Given the description of an element on the screen output the (x, y) to click on. 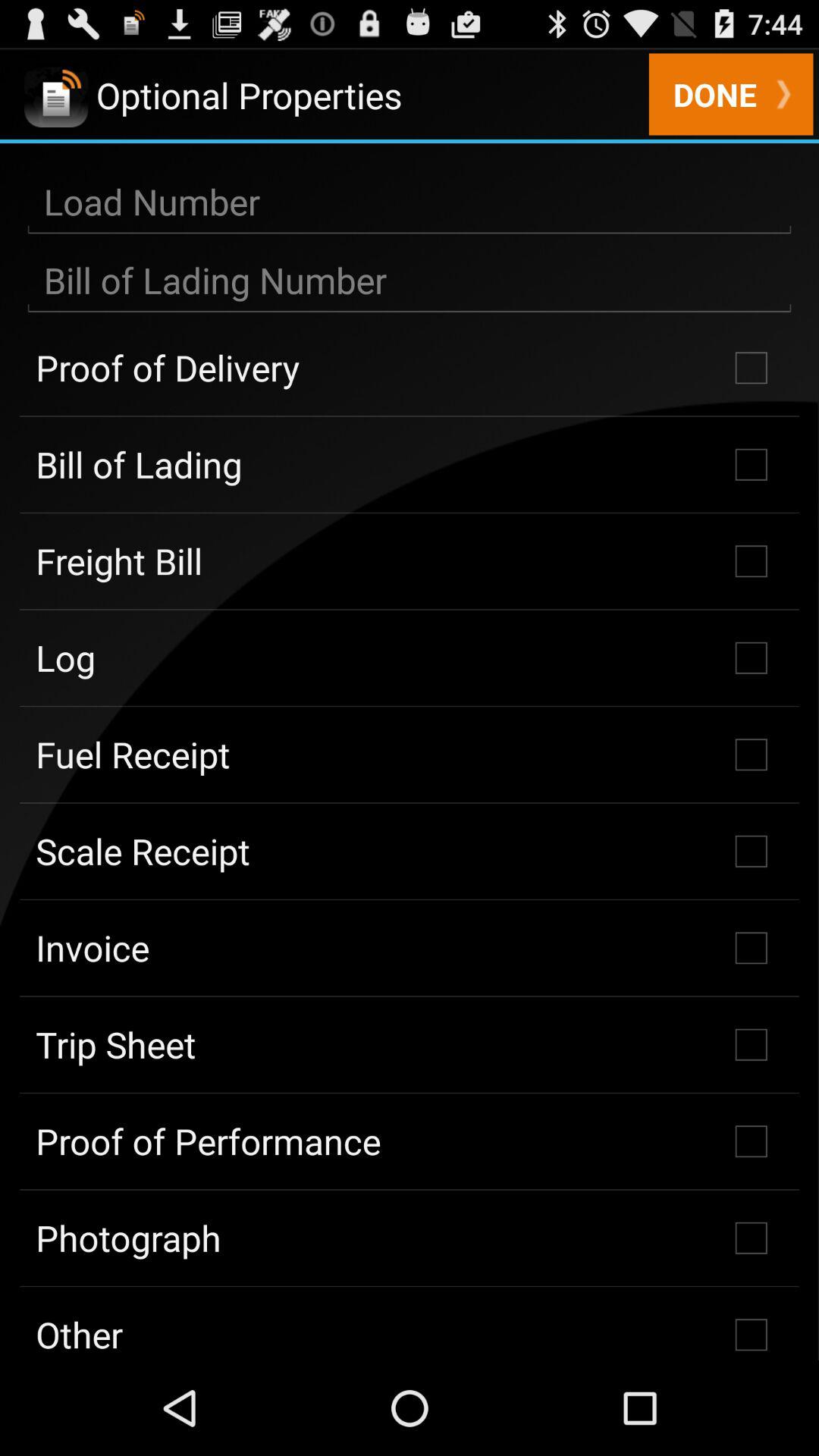
open the icon above proof of performance icon (409, 1044)
